Given the description of an element on the screen output the (x, y) to click on. 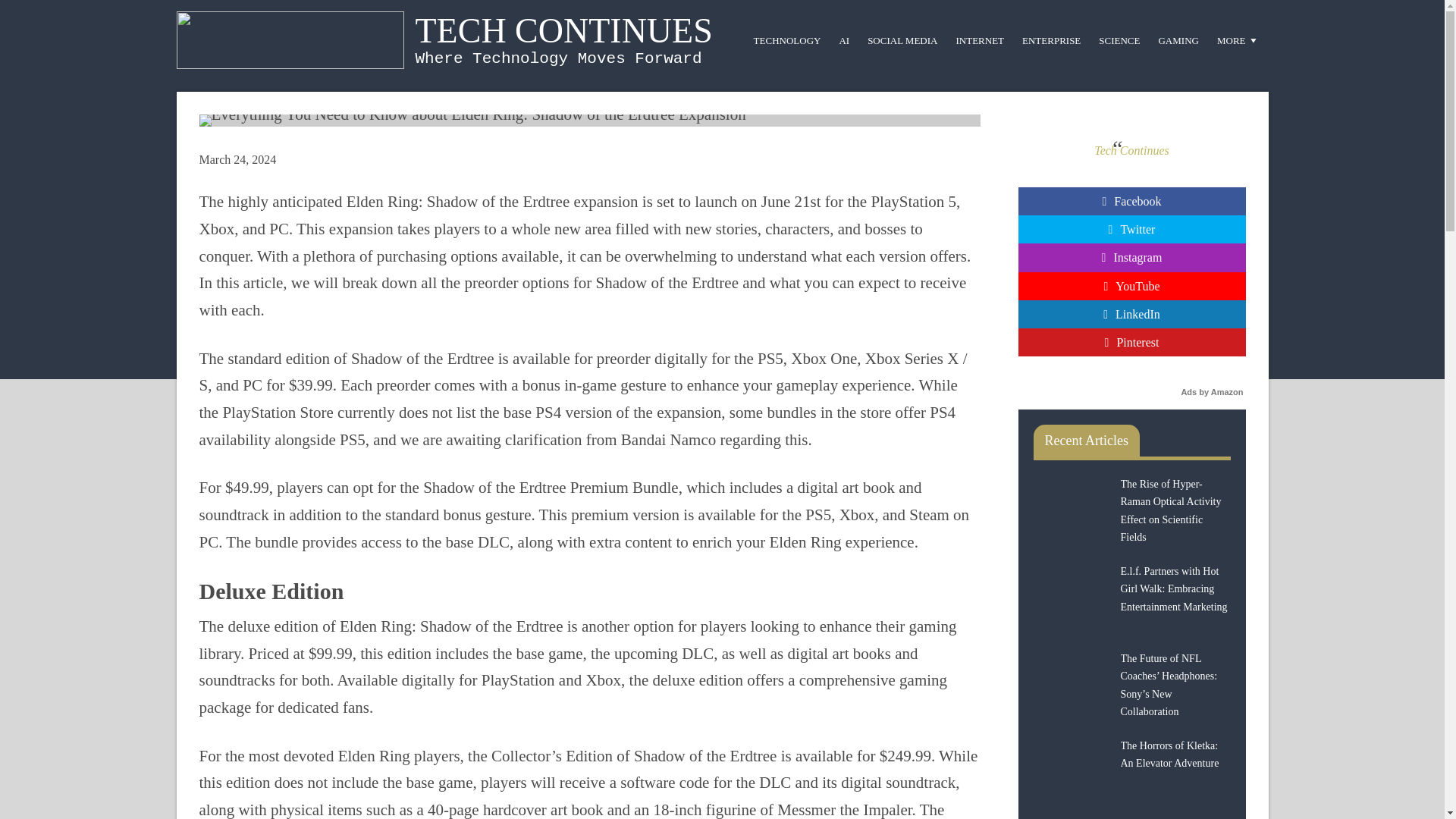
SOCIAL MEDIA (902, 39)
MORE (1238, 39)
TECHNOLOGY (786, 39)
TECH CONTINUES (563, 30)
INTERNET (979, 39)
GAMING (1177, 39)
SCIENCE (1118, 39)
ENTERPRISE (1051, 39)
